Given the description of an element on the screen output the (x, y) to click on. 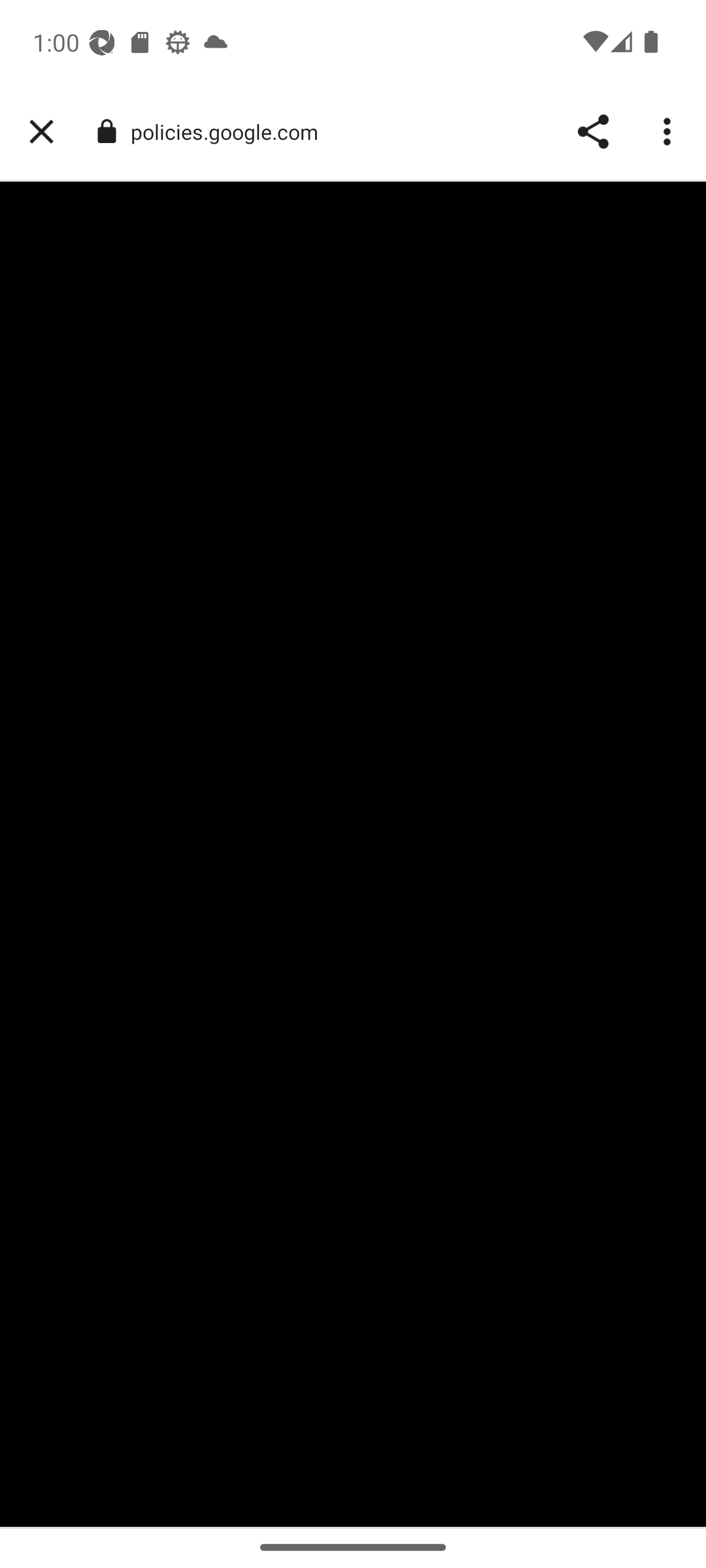
Close tab (41, 131)
Share (592, 131)
More options (669, 131)
Connection is secure (106, 131)
policies.google.com (230, 131)
